Given the description of an element on the screen output the (x, y) to click on. 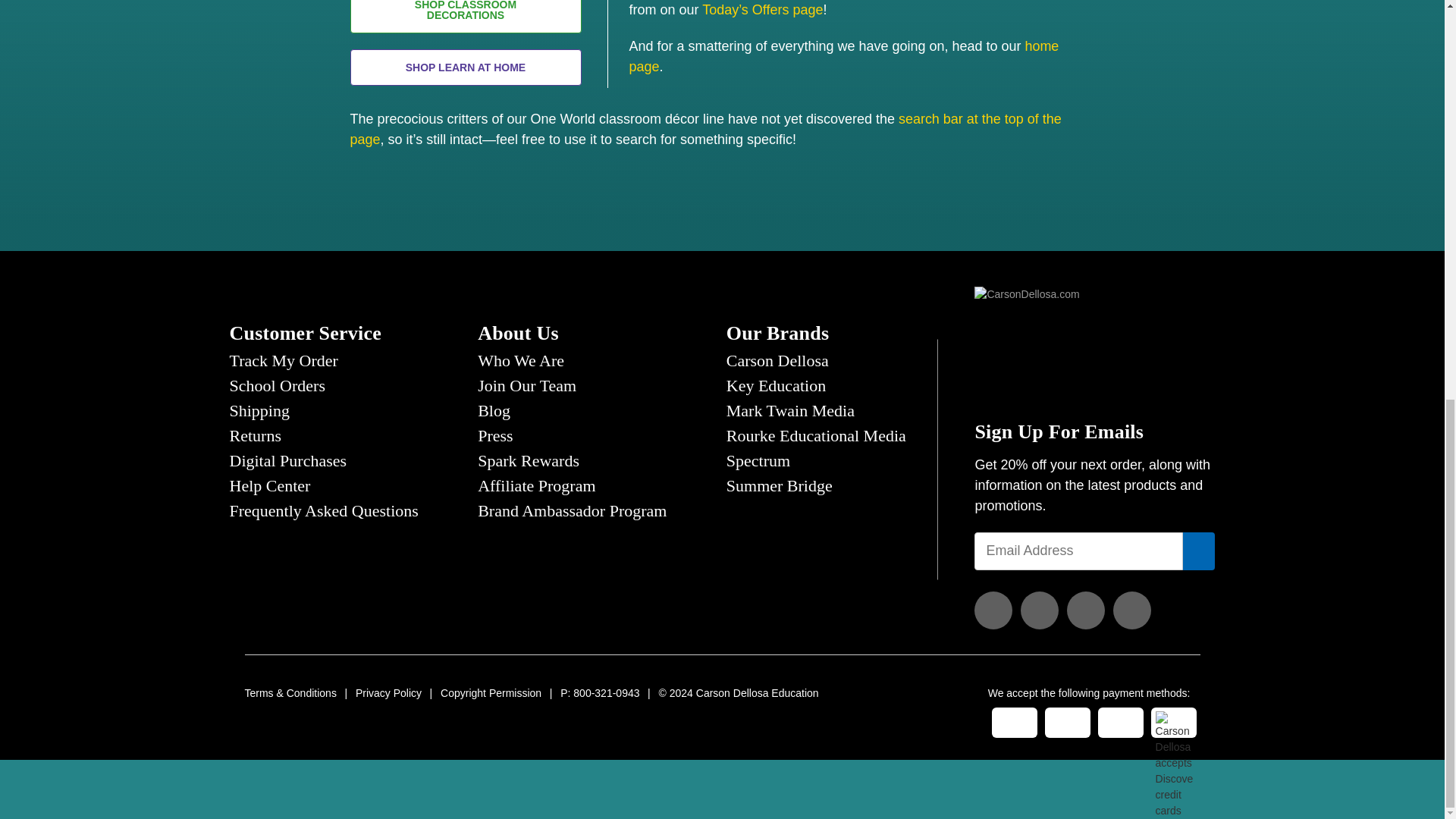
Facebook (992, 610)
Youtube (1132, 610)
Instagram (1039, 610)
CarsonDellosa.com (1027, 339)
Pinterest (1086, 610)
